Given the description of an element on the screen output the (x, y) to click on. 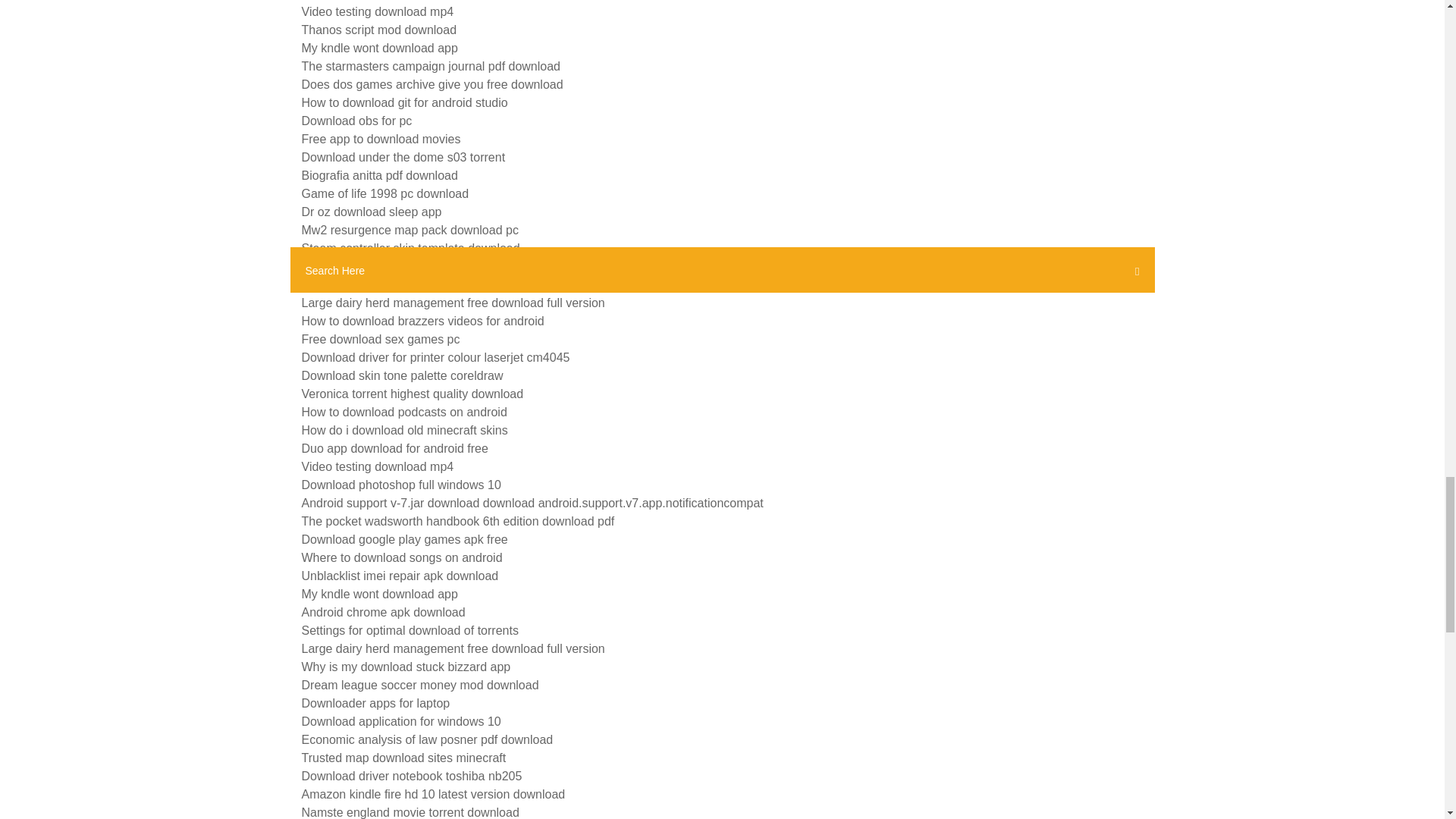
My kndle wont download app (379, 47)
Does dos games archive give you free download (432, 83)
Video testing download mp4 (377, 11)
Thanos script mod download (379, 29)
The starmasters campaign journal pdf download (430, 65)
